Given the description of an element on the screen output the (x, y) to click on. 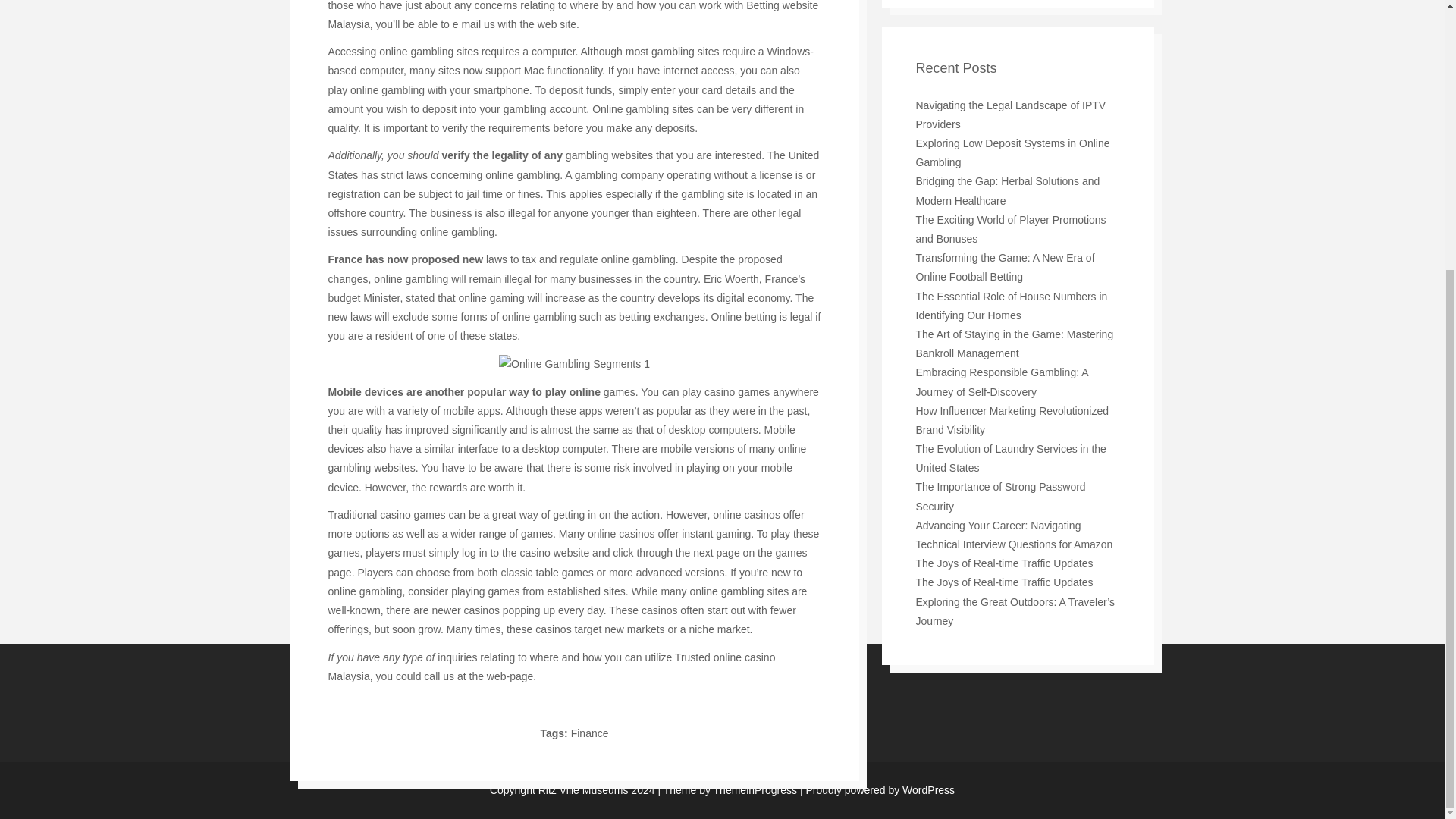
Finance (589, 733)
Betting website Malaysia (572, 15)
Transforming the Game: A New Era of Online Football Betting (1004, 266)
A Semantic Personal Publishing Platform (877, 789)
Bridging the Gap: Herbal Solutions and Modern Healthcare (1007, 190)
The Exciting World of Player Promotions and Bonuses (1010, 228)
The Essential Role of House Numbers in Identifying Our Homes (1011, 305)
Exploring Low Deposit Systems in Online Gambling (1012, 152)
Trusted online casino Malaysia (550, 666)
